Given the description of an element on the screen output the (x, y) to click on. 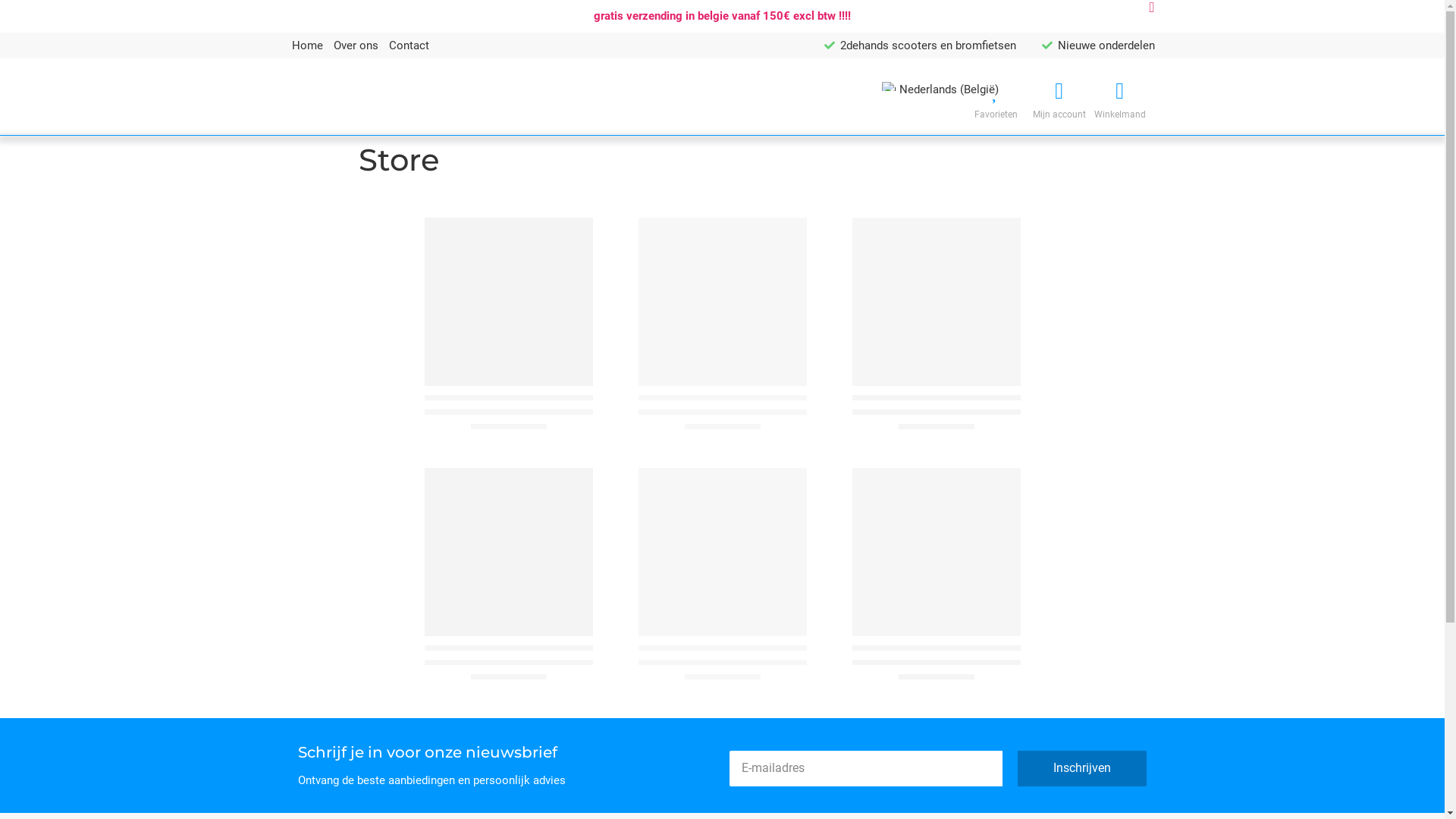
Home Element type: text (306, 45)
Contact Element type: text (407, 45)
Over ons Element type: text (355, 45)
Inschrijven Element type: text (1081, 768)
